Given the description of an element on the screen output the (x, y) to click on. 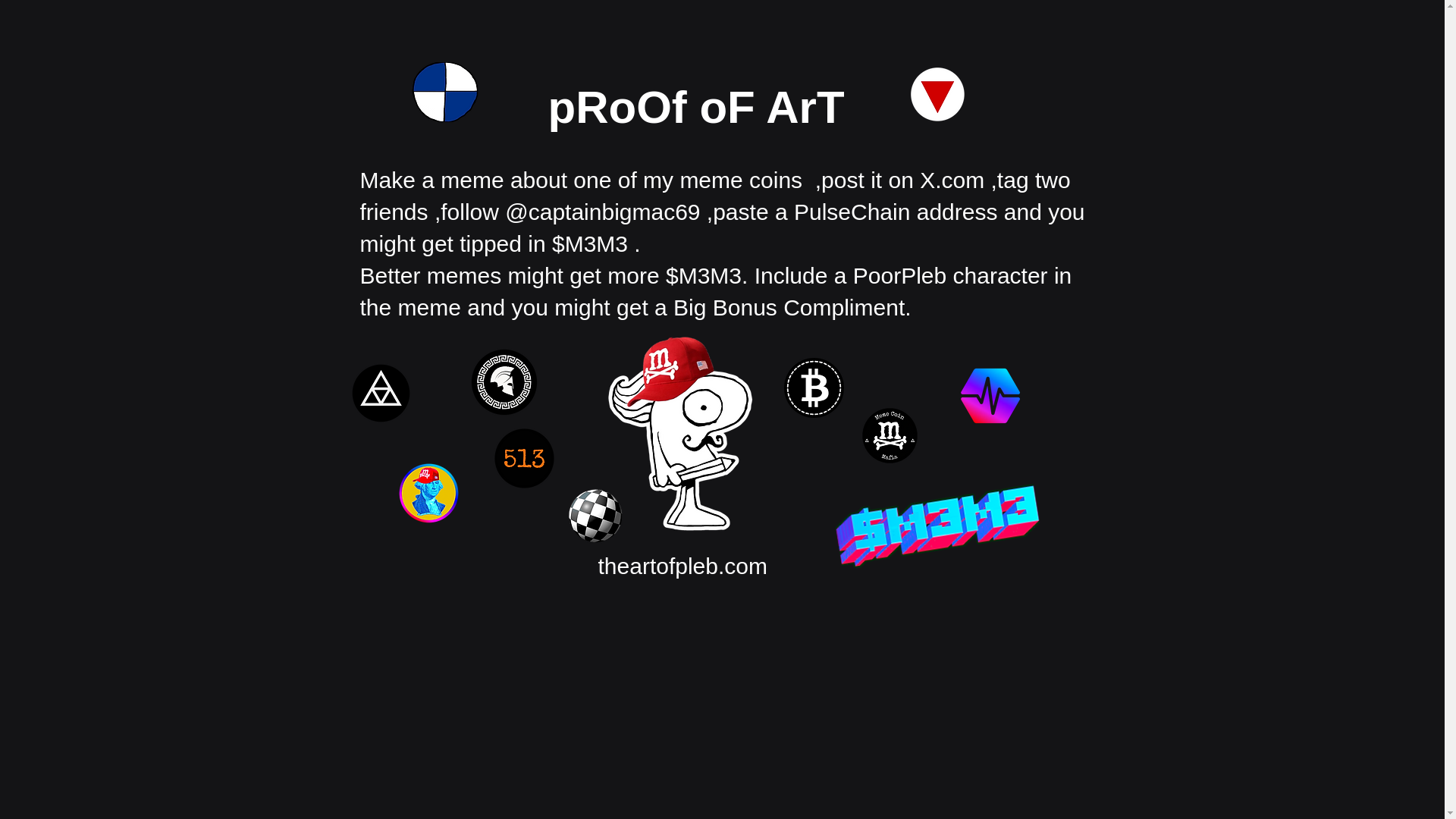
Unwwwwtitled.png (937, 94)
DNT.png (380, 393)
8f004b1ef95784dbd8.PNG (504, 382)
